Given the description of an element on the screen output the (x, y) to click on. 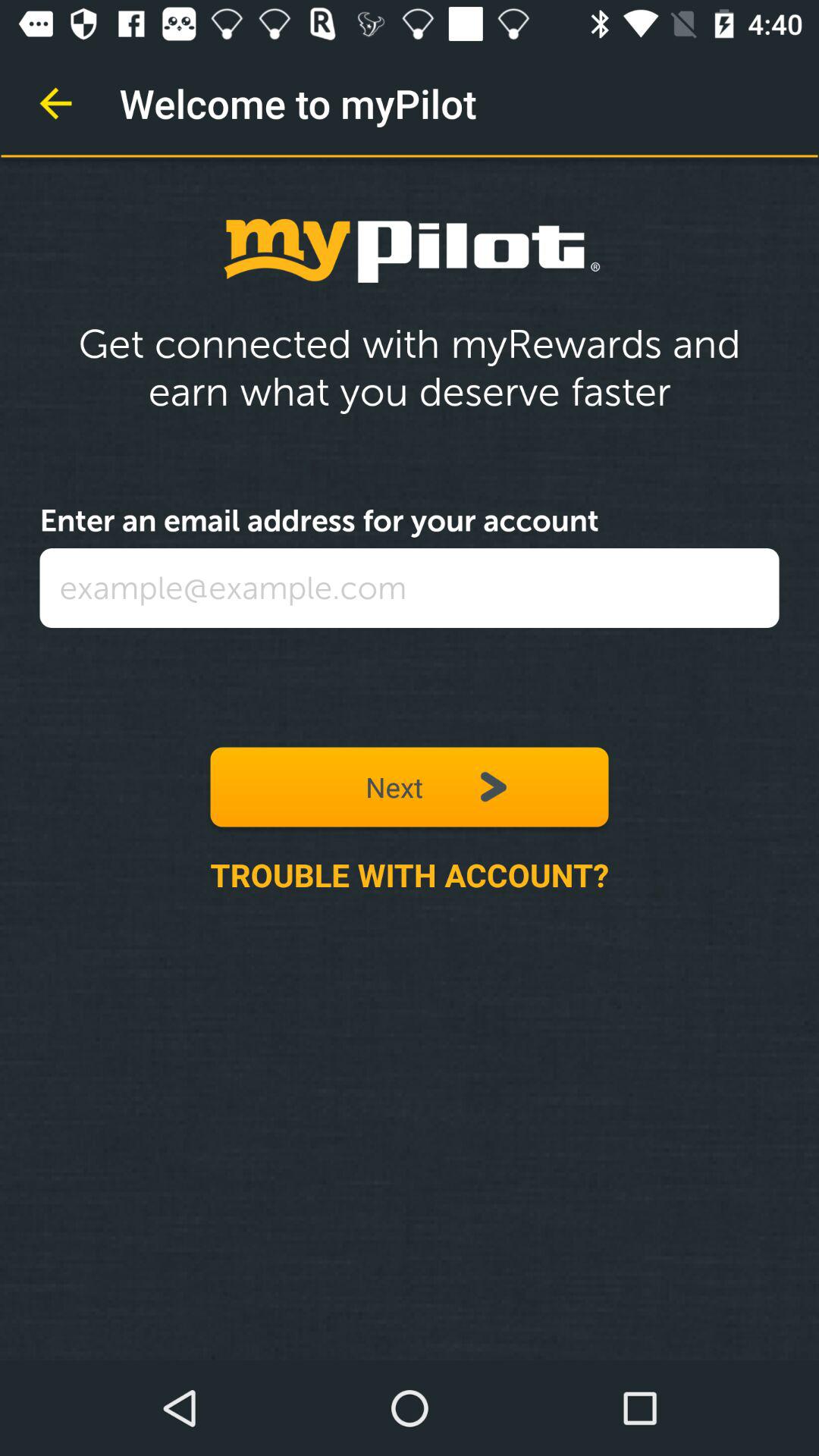
open icon below next item (409, 874)
